Given the description of an element on the screen output the (x, y) to click on. 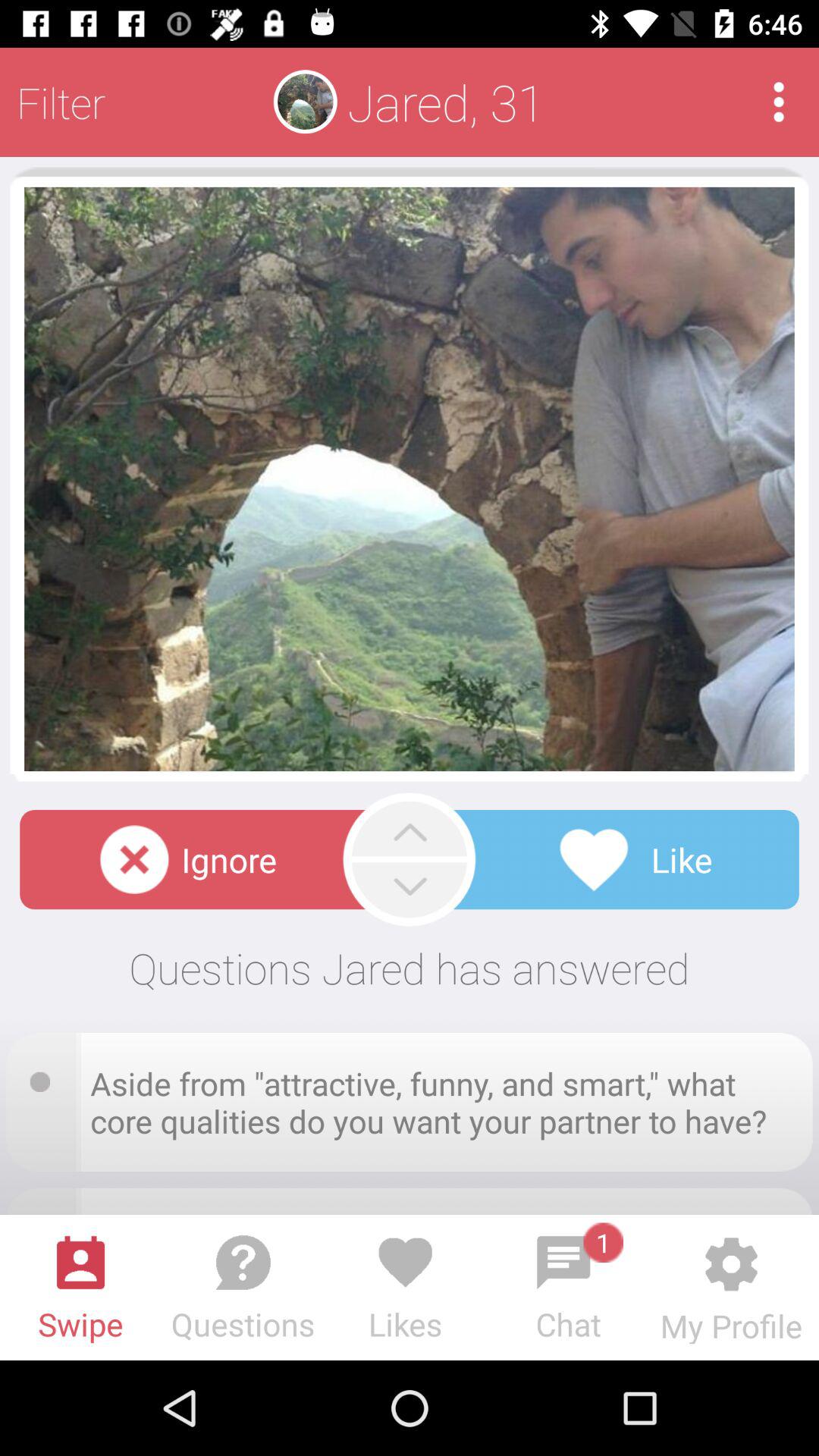
tap filter item (61, 102)
